Given the description of an element on the screen output the (x, y) to click on. 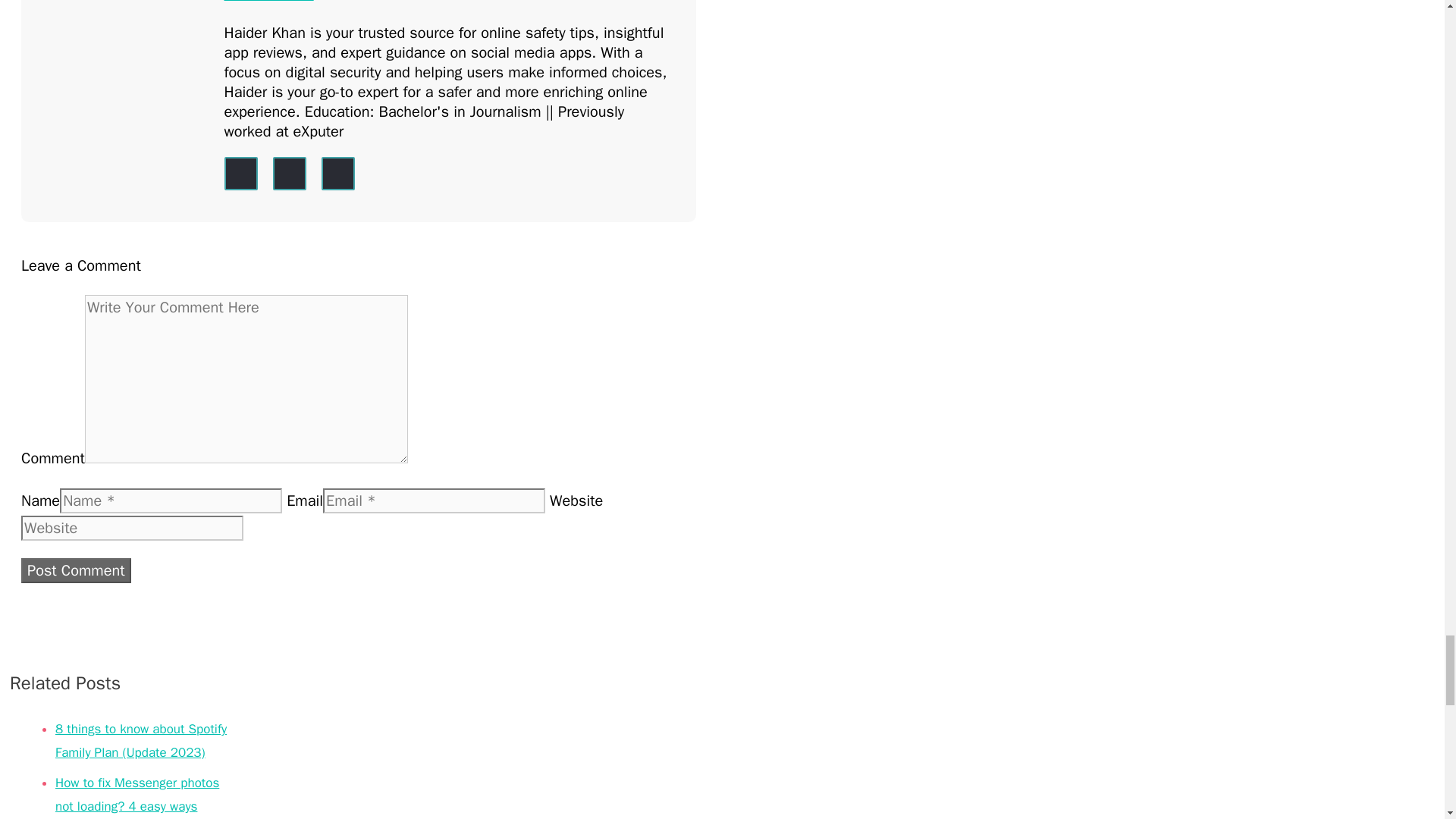
Post Comment (76, 570)
